Given the description of an element on the screen output the (x, y) to click on. 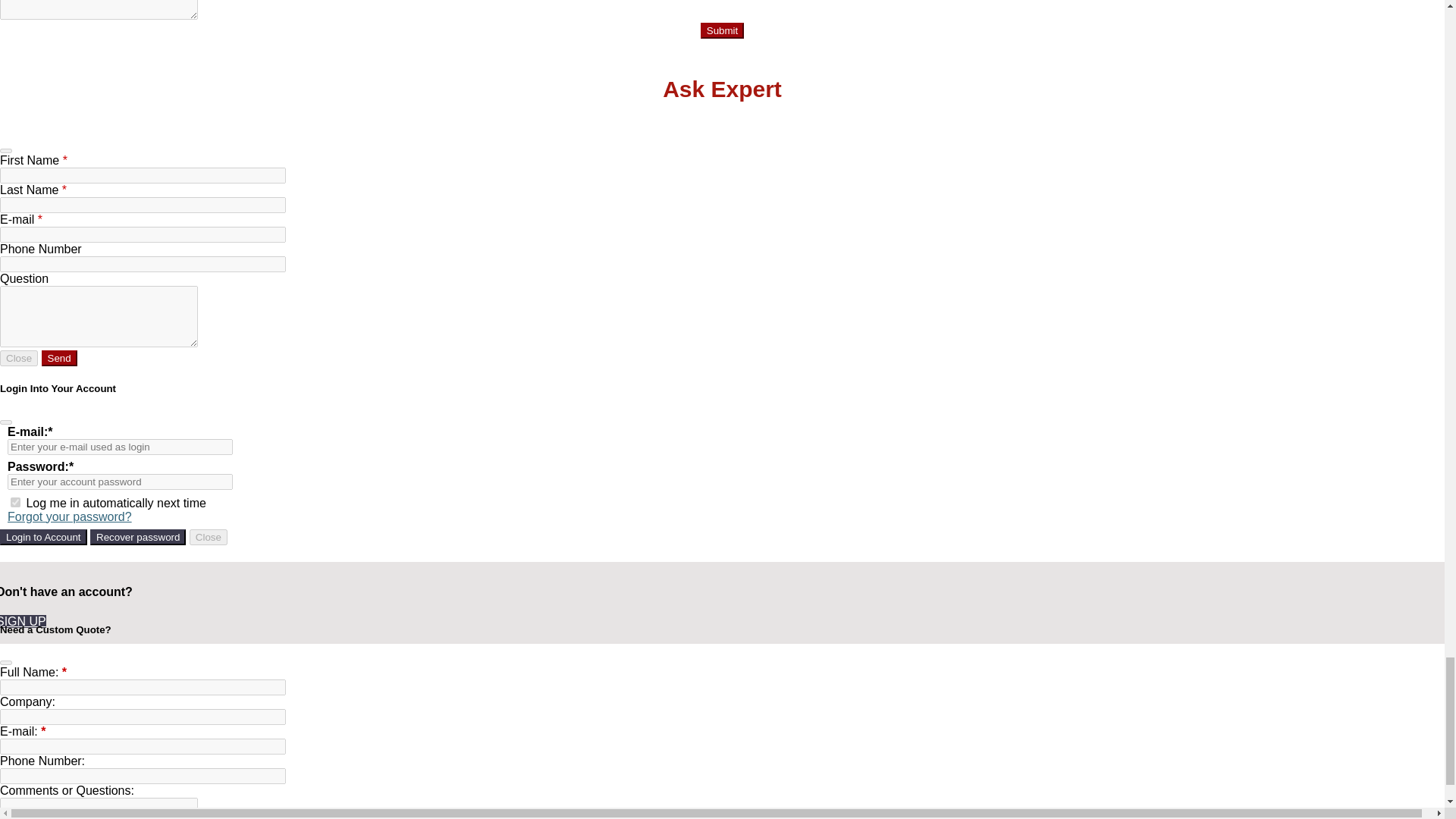
Submit (722, 30)
1 (15, 501)
